Given the description of an element on the screen output the (x, y) to click on. 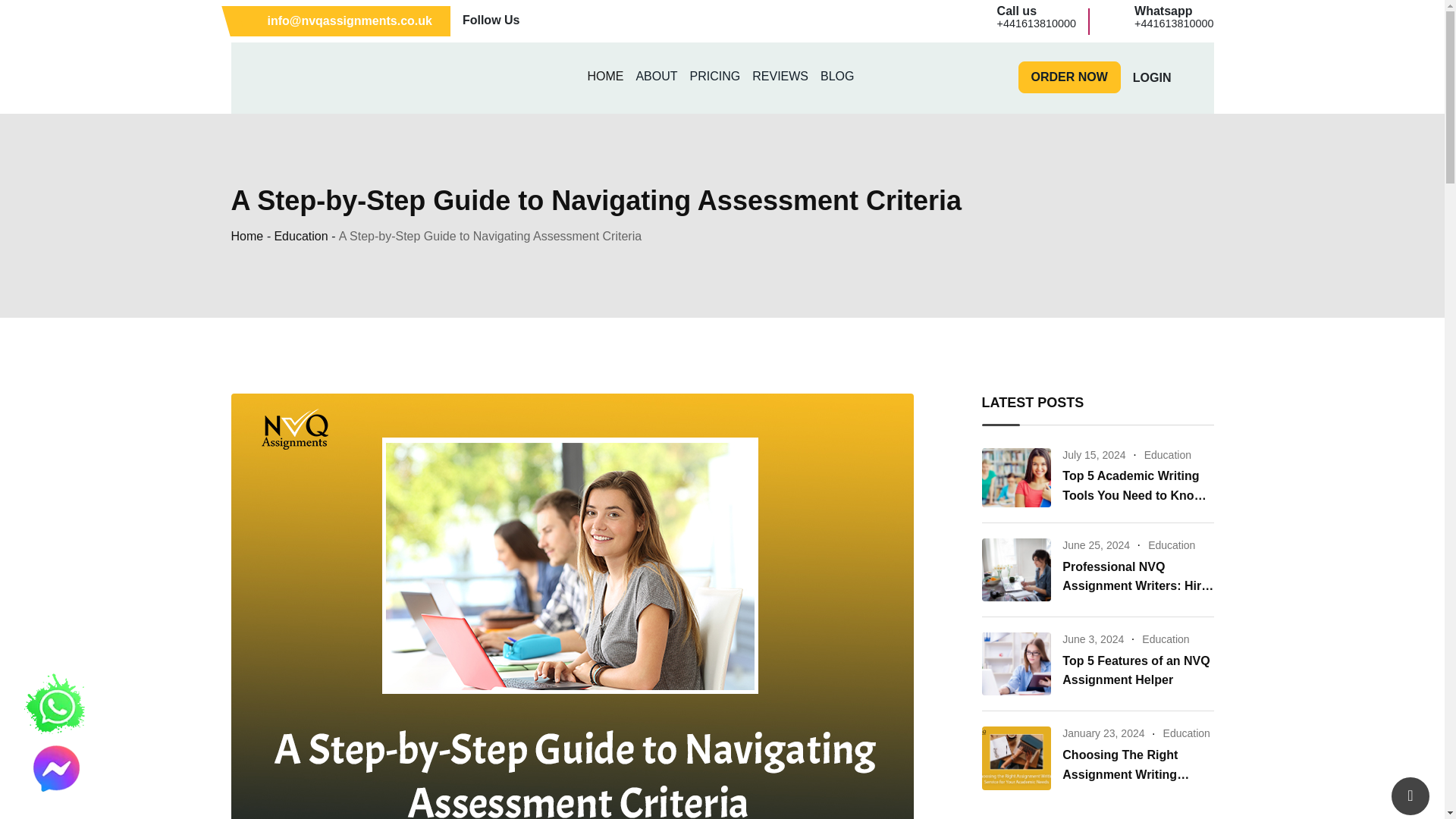
icon (255, 20)
PRICING (715, 76)
icon (721, 77)
icon (648, 17)
icon (566, 17)
icon (1184, 77)
icon (620, 17)
icon (288, 74)
LOGIN (1115, 20)
icon (1164, 78)
REVIEWS (593, 17)
HOME (779, 76)
BLOG (604, 76)
Education (836, 76)
